Given the description of an element on the screen output the (x, y) to click on. 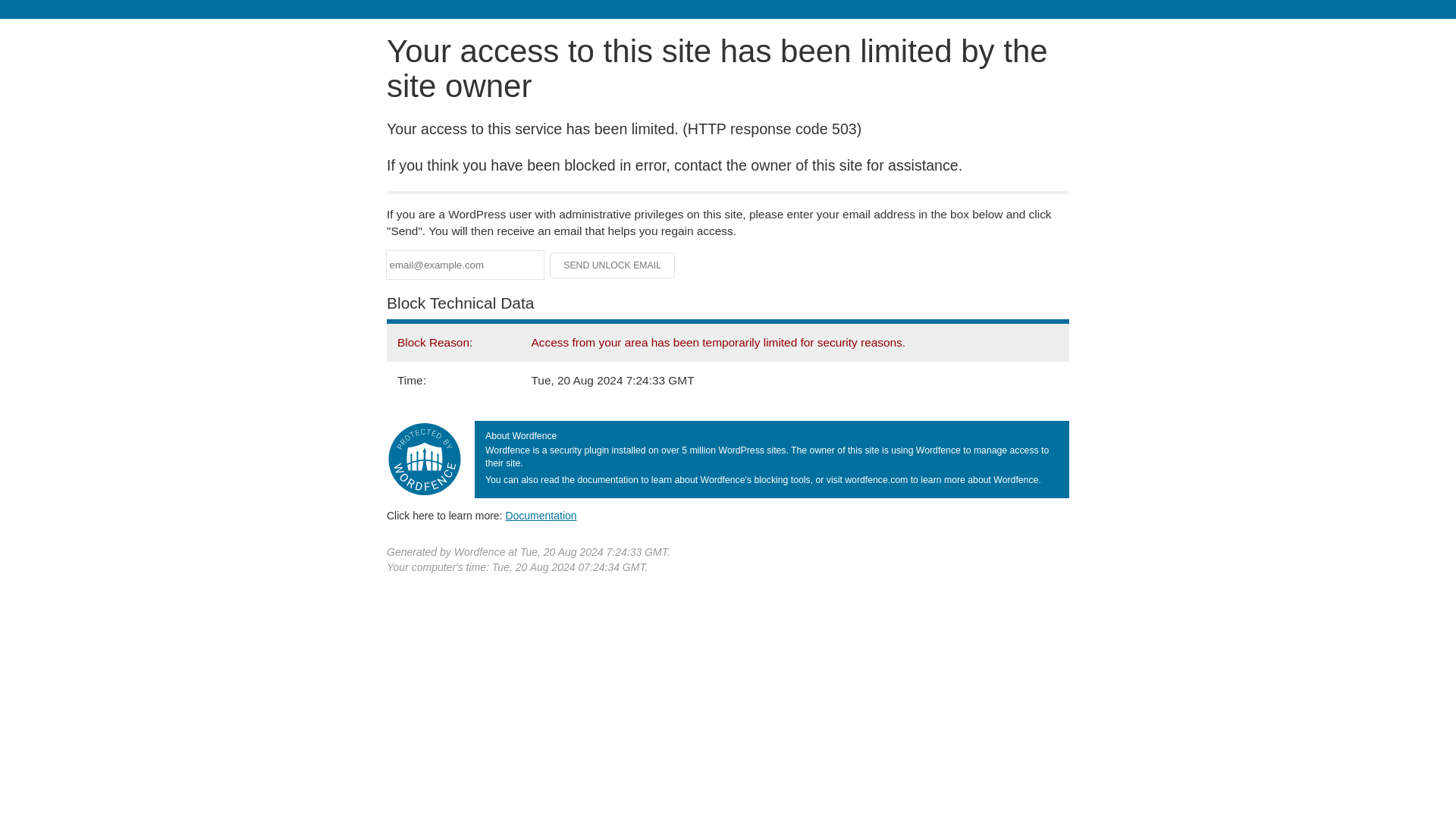
Send Unlock Email (612, 265)
Send Unlock Email (612, 265)
Documentation (540, 515)
